Given the description of an element on the screen output the (x, y) to click on. 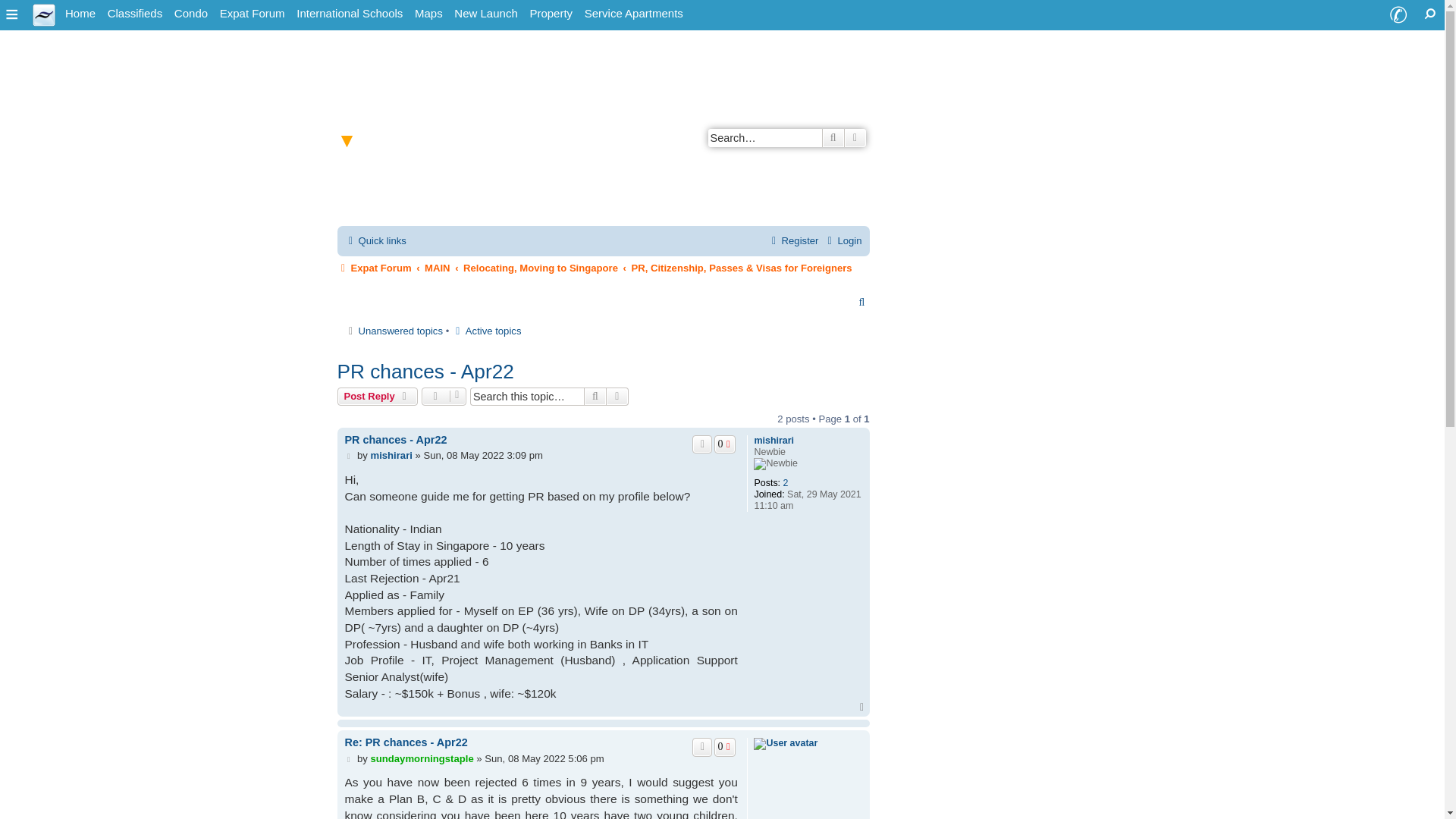
Service Apartments (633, 13)
Singapore Classified Ads (135, 13)
Property (550, 13)
Singapore Expats Forum (252, 13)
Singapore Street Maps (428, 13)
Singapore Expats (80, 13)
Contact Us (1397, 15)
Singapore International Schools (349, 13)
Maps (428, 13)
Home (80, 13)
Classifieds (135, 13)
Singapore Expats (44, 13)
Condo (191, 13)
New Property Launch (485, 13)
Expat Forum (252, 13)
